Given the description of an element on the screen output the (x, y) to click on. 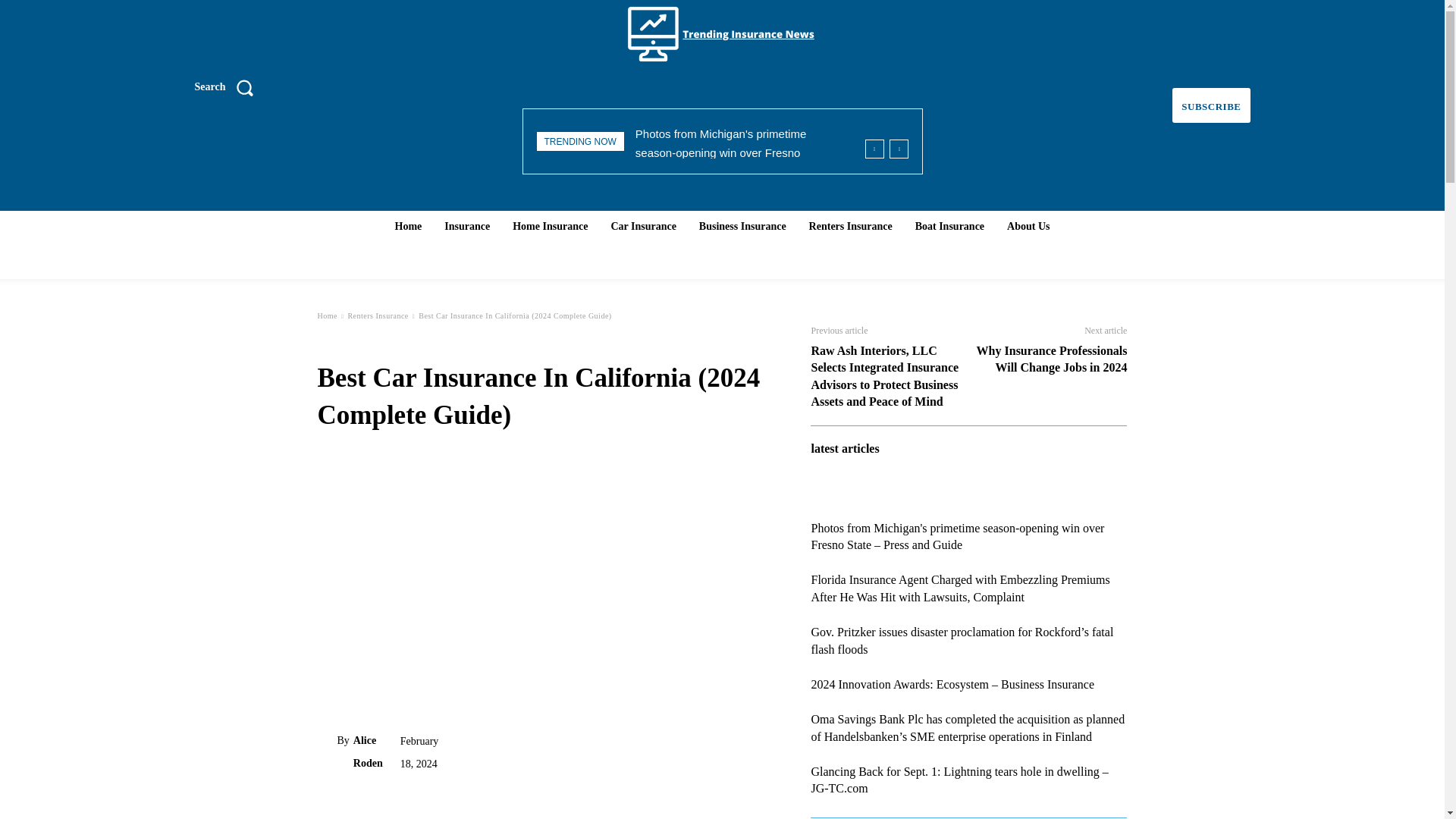
Search (228, 86)
trending insurance news (724, 33)
Boat Insurance (949, 226)
Home Insurance (550, 226)
SUBSCRIBE (1210, 105)
Car Insurance (642, 226)
Home (326, 316)
Home (408, 226)
Renters Insurance (850, 226)
Alice Roden (326, 752)
